Given the description of an element on the screen output the (x, y) to click on. 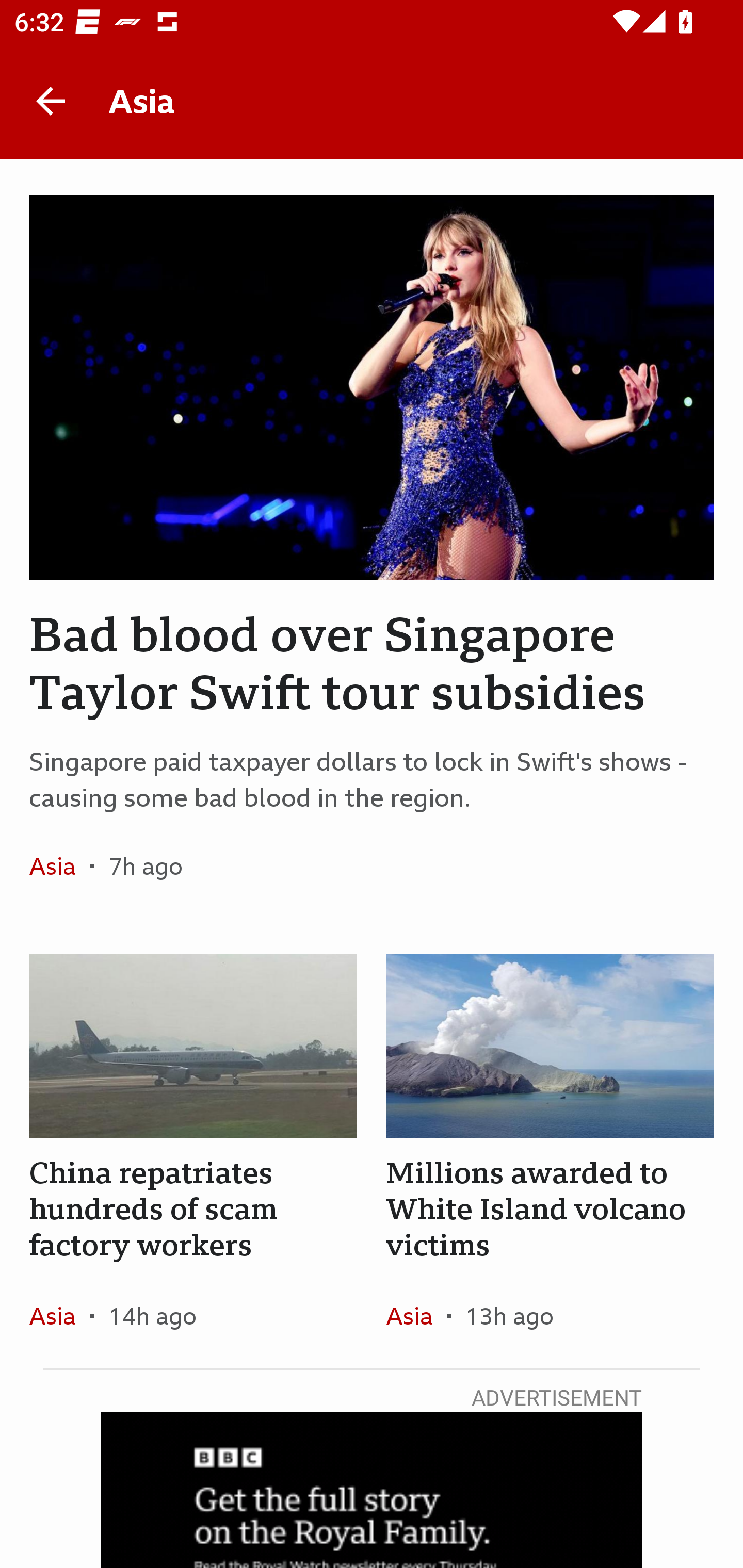
Back (50, 101)
Asia In the section Asia (59, 865)
Asia In the section Asia (59, 1315)
Asia In the section Asia (416, 1315)
